Given the description of an element on the screen output the (x, y) to click on. 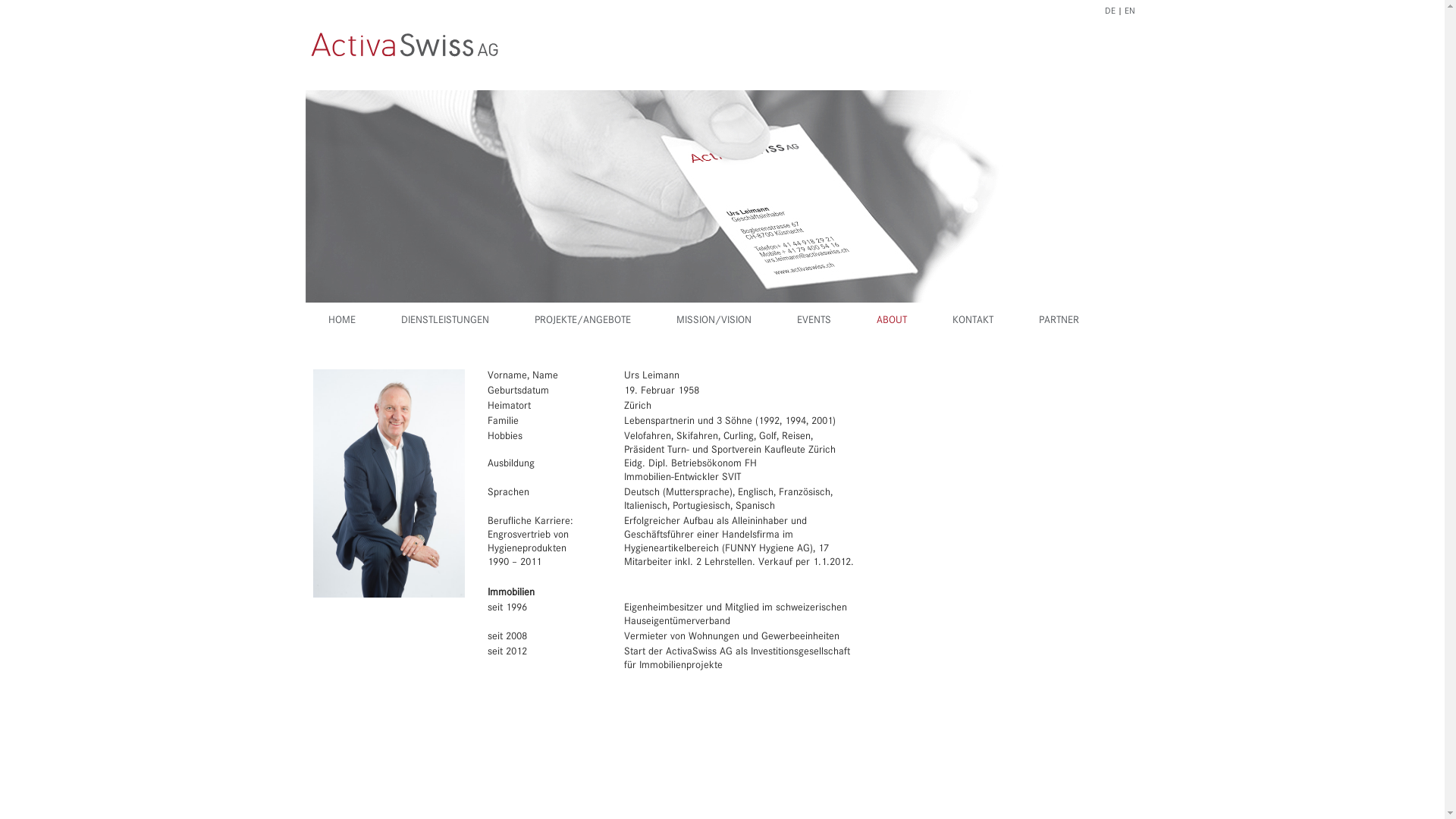
ABOUT Element type: text (891, 320)
EN Element type: text (1128, 10)
ZUM INHALT SPRINGEN Element type: text (723, 301)
KONTAKT Element type: text (972, 320)
DIENSTLEISTUNGEN Element type: text (444, 320)
PARTNER Element type: text (1058, 320)
EVENTS Element type: text (813, 320)
PROJEKTE/ANGEBOTE Element type: text (581, 320)
ActivaSwiss Element type: text (360, 320)
HOME Element type: text (341, 320)
MISSION/VISION Element type: text (713, 320)
DE Element type: text (1109, 10)
